Given the description of an element on the screen output the (x, y) to click on. 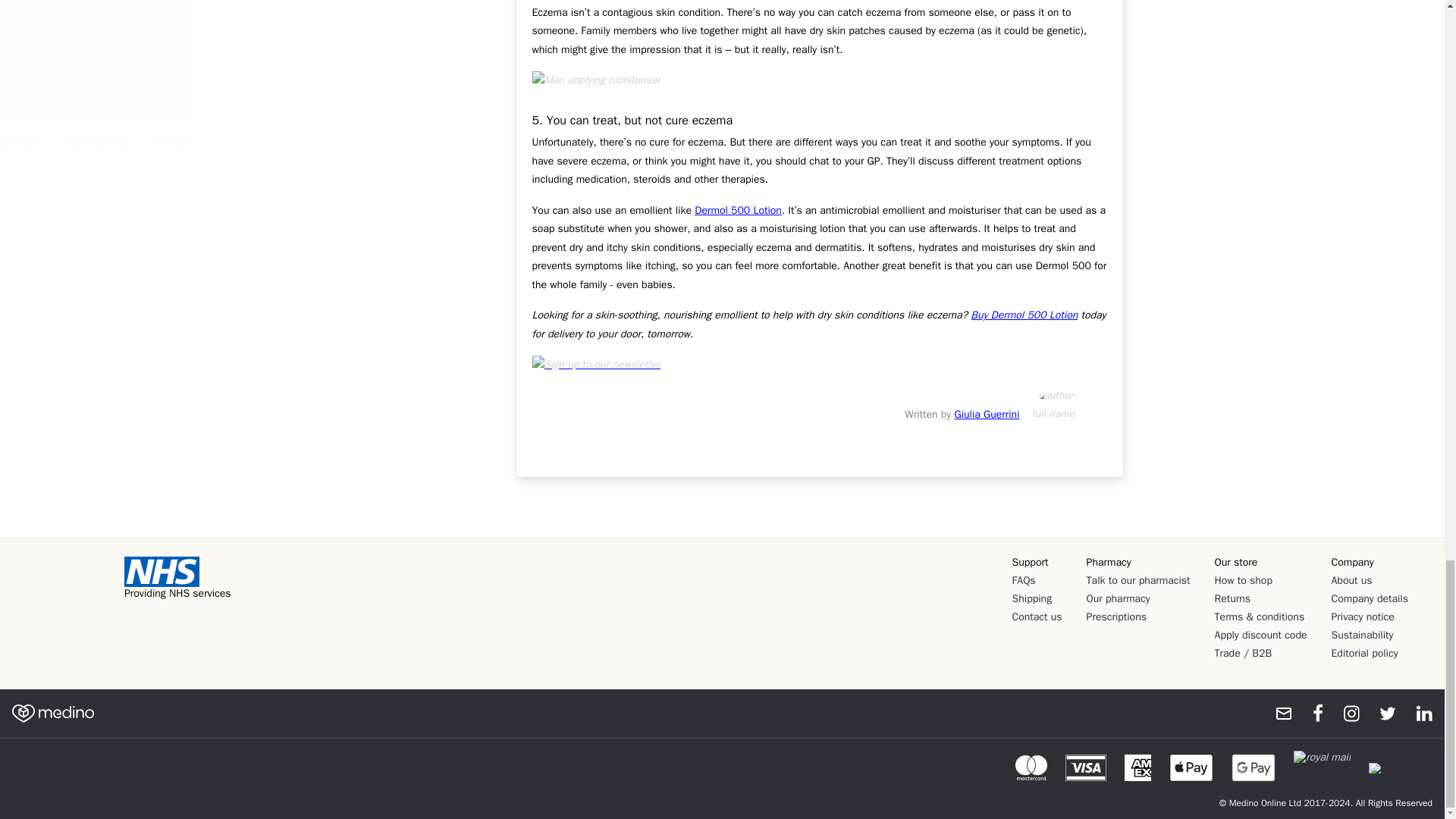
home (52, 713)
medino on linkedIn (1417, 713)
medino on instagram (1344, 713)
medino on facebook (1307, 713)
medino on twitter (1380, 713)
Subscribe to our newsletter (1277, 713)
Reviews Badge Widget (64, 603)
